Given the description of an element on the screen output the (x, y) to click on. 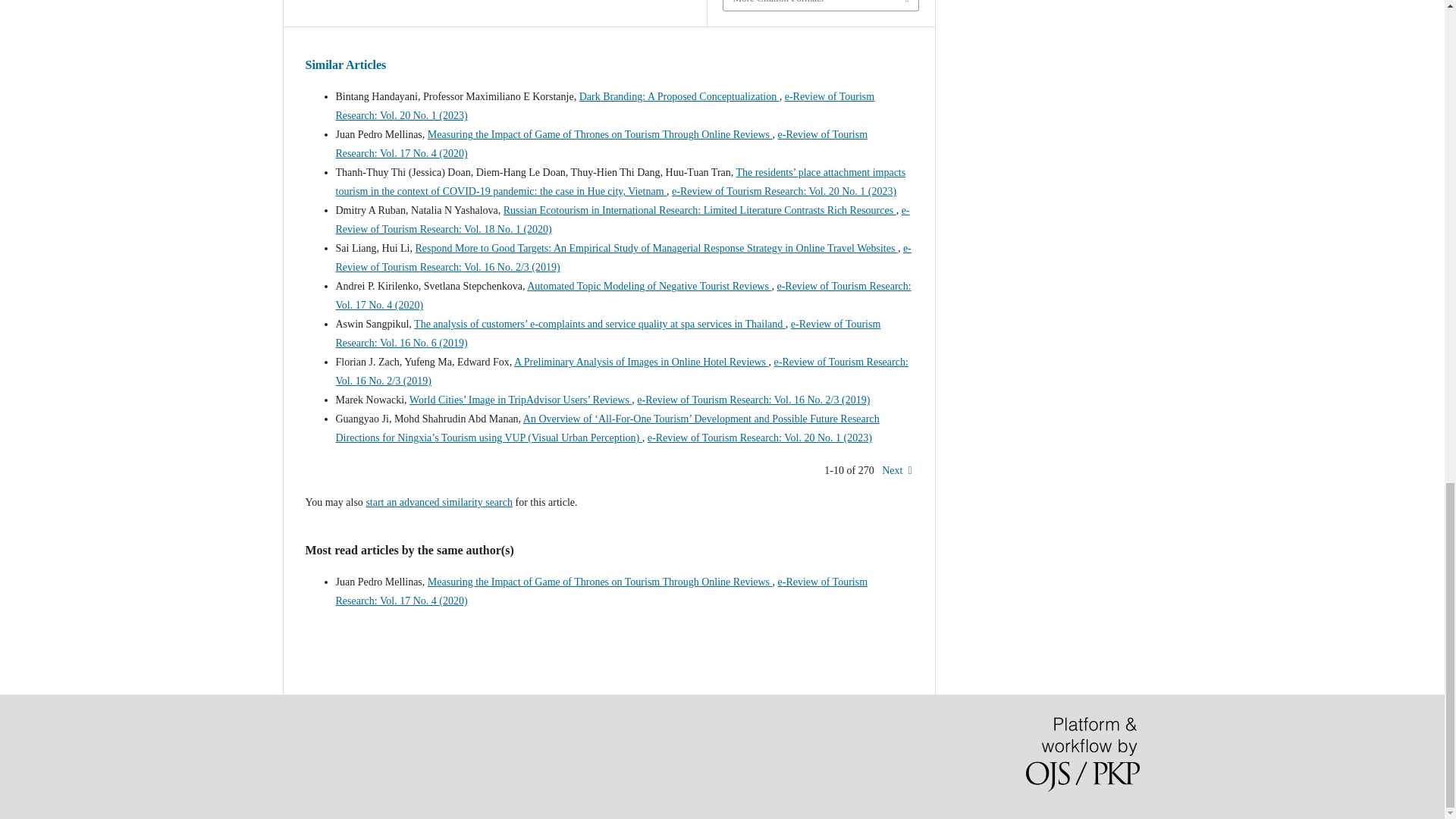
Similar Articles (344, 64)
More Citation Formats (820, 5)
Dark Branding: A Proposed Conceptualization (678, 96)
